Given the description of an element on the screen output the (x, y) to click on. 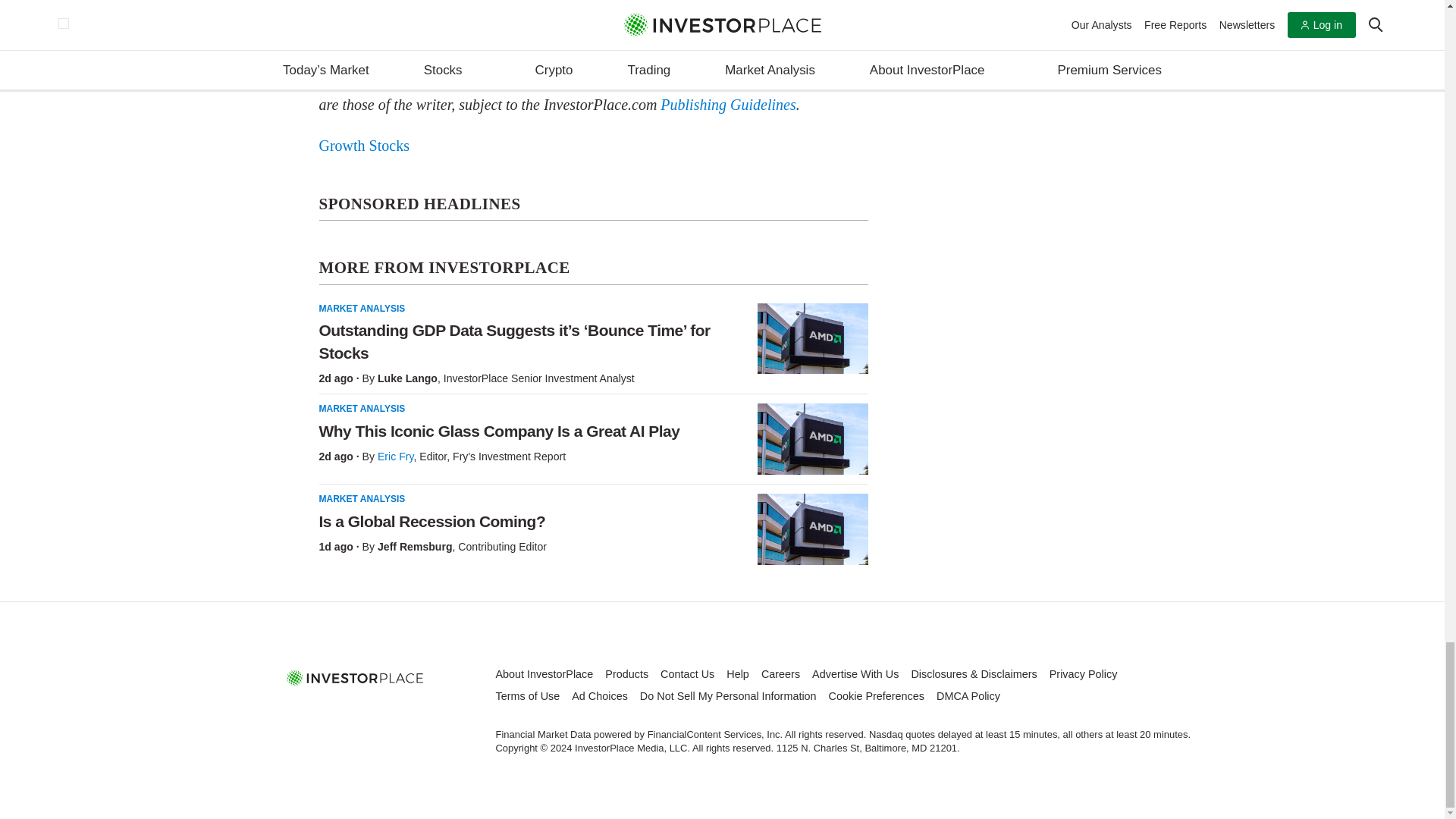
Why This Iconic Glass Company Is a Great AI Play (812, 439)
View profile of Eric Fry (395, 456)
View profile of Jeff Remsburg (414, 546)
Visit our Twitter page (354, 711)
View profile of Luke Lango (407, 378)
Visit our Facebook Page (319, 711)
Articles from Growth Stocks stock type (363, 145)
Is a Global Recession Coming? (812, 529)
Subscribe to our RSS feed (389, 711)
